Given the description of an element on the screen output the (x, y) to click on. 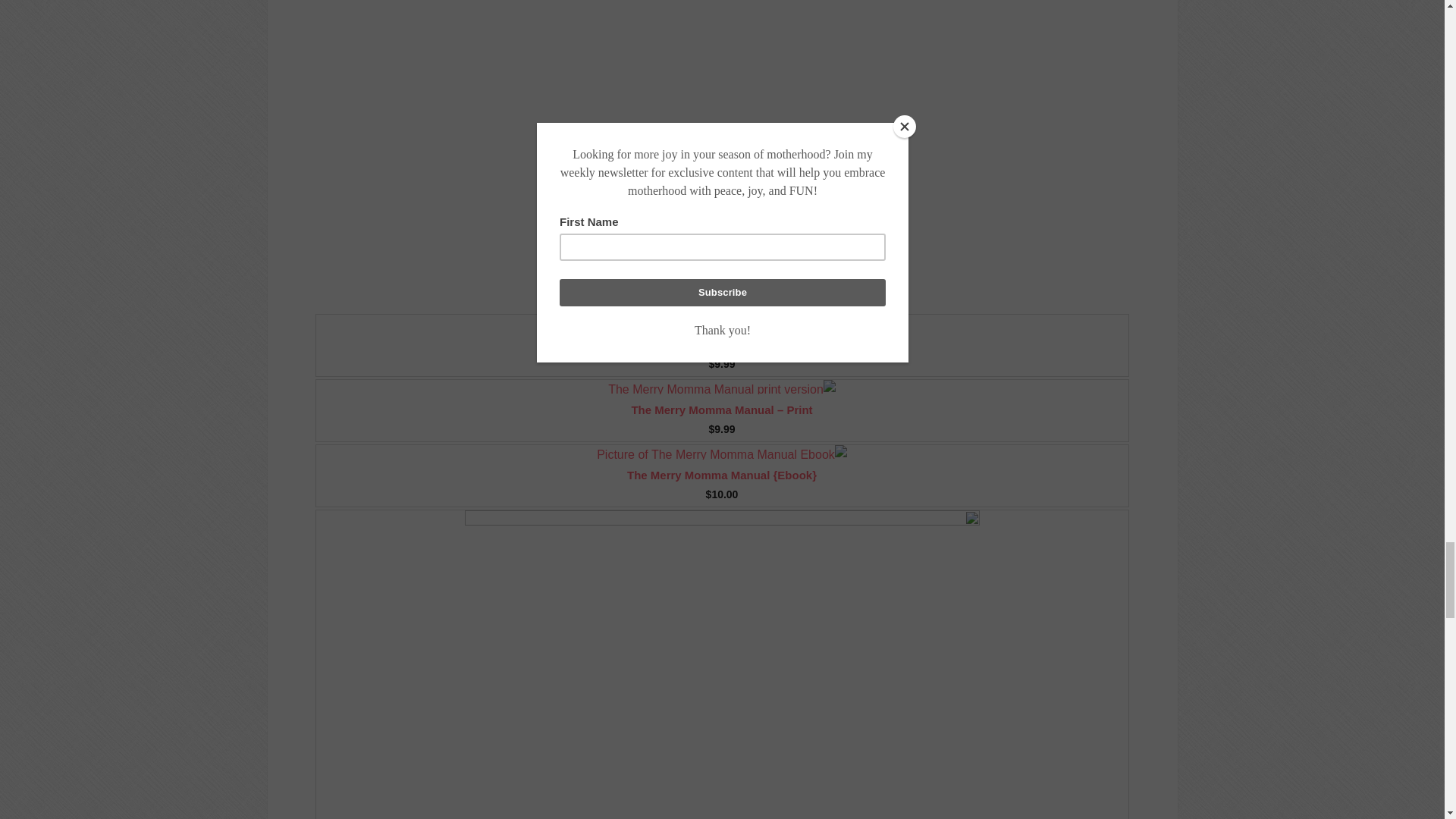
Comment Form (586, 114)
